Given the description of an element on the screen output the (x, y) to click on. 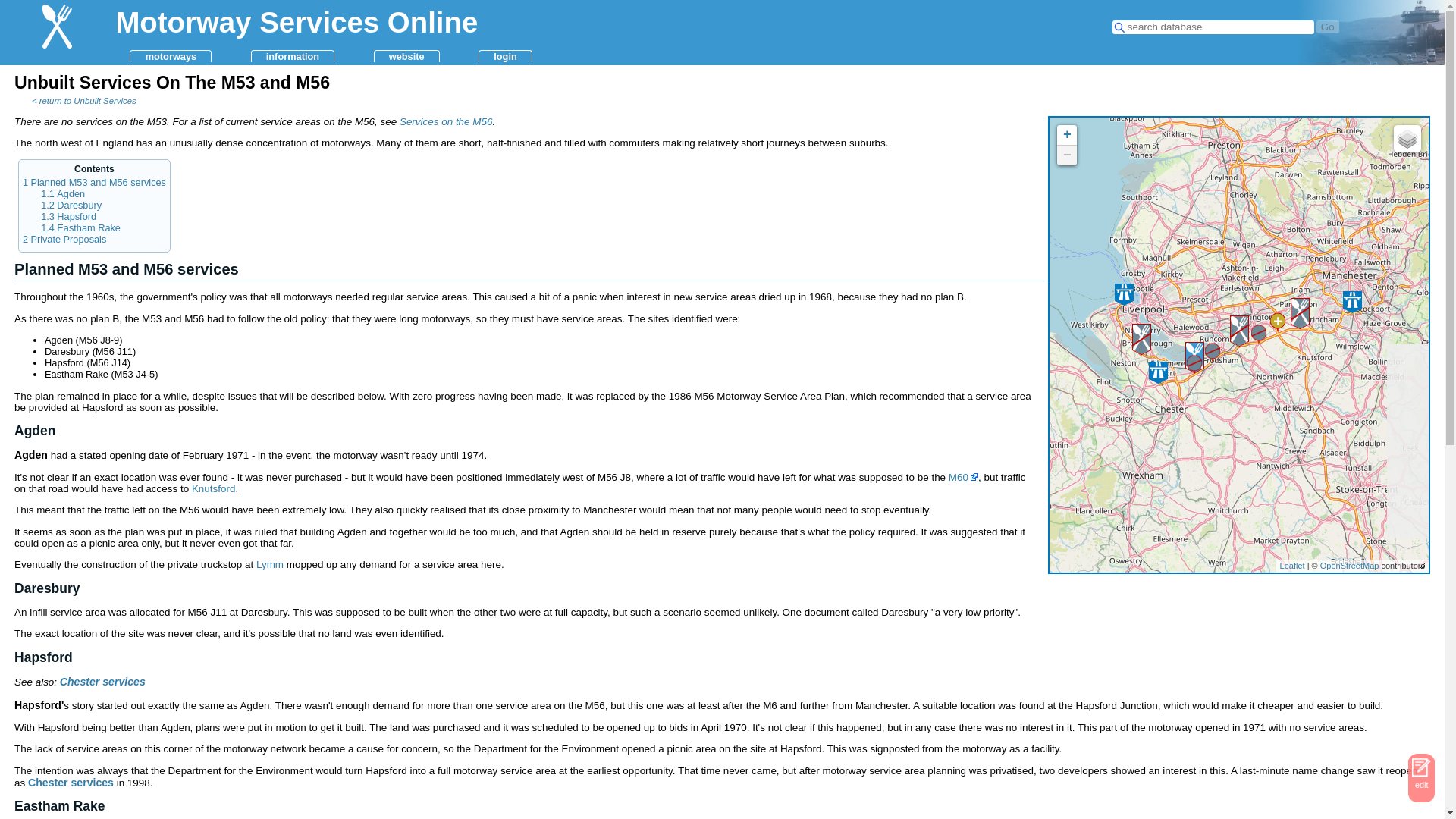
website (406, 55)
1 Planned M53 and M56 services (94, 182)
information (292, 55)
login (505, 55)
Go (1327, 26)
Services on the M56 (445, 121)
Go (1327, 26)
Go (1327, 26)
Go to a page with this exact name if exists (1327, 26)
motorways (170, 55)
